Given the description of an element on the screen output the (x, y) to click on. 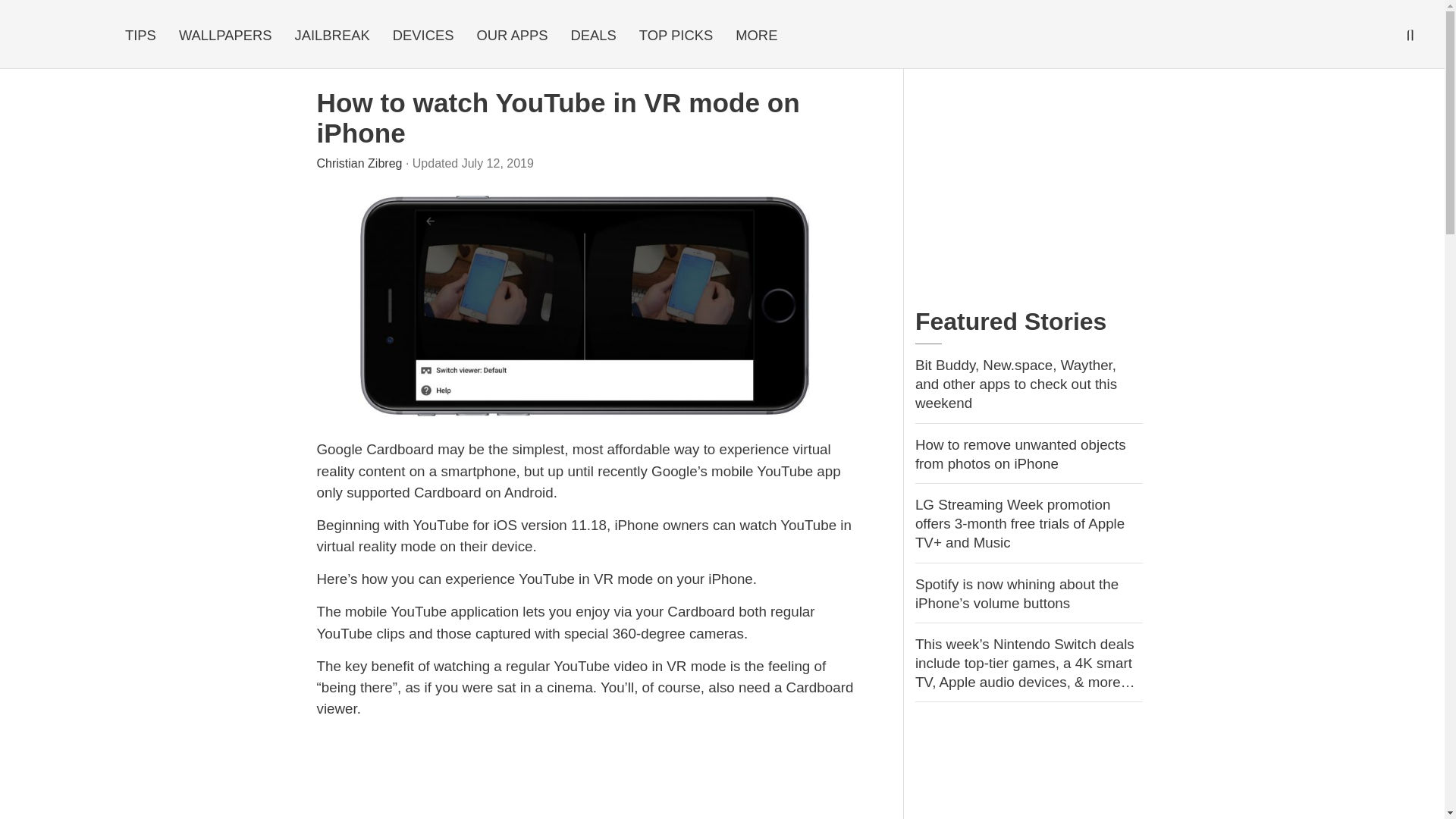
WALLPAPERS (225, 35)
Wallpapers (225, 35)
JAILBREAK (332, 35)
TIPS (140, 35)
Tips (140, 35)
OUR APPS (511, 35)
DEVICES (423, 35)
